Given the description of an element on the screen output the (x, y) to click on. 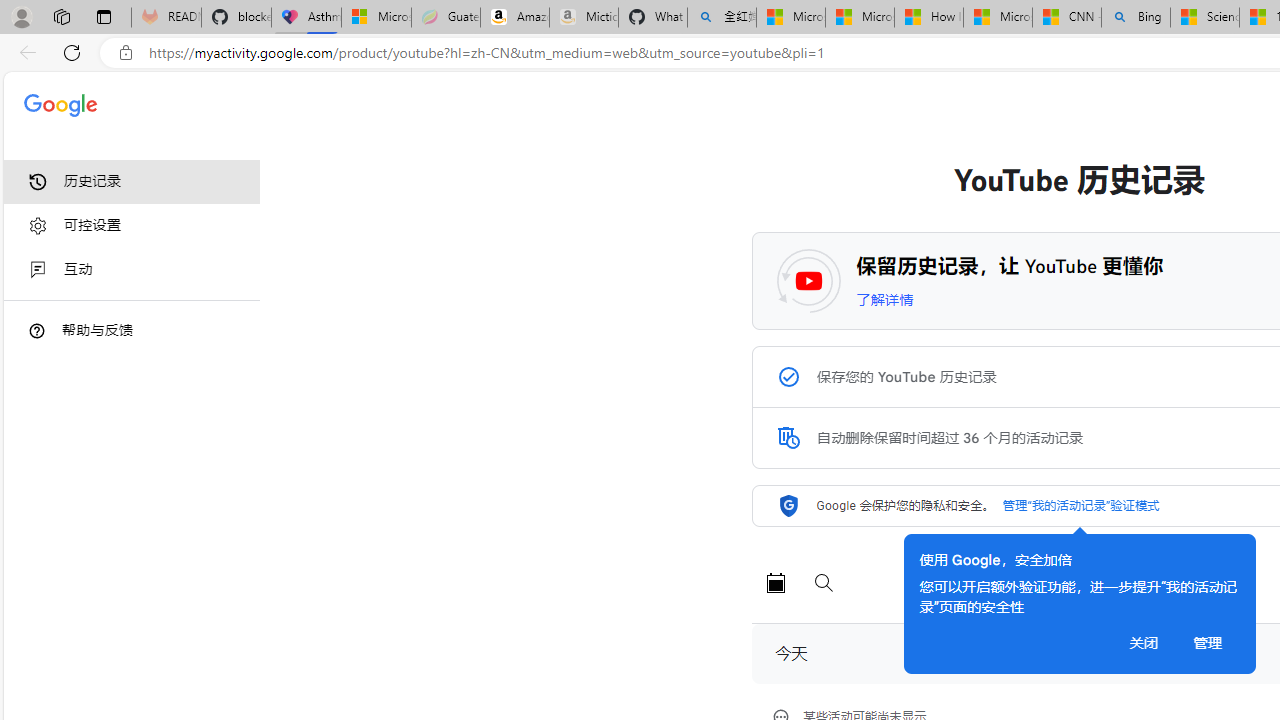
Bing (1135, 17)
